Given the description of an element on the screen output the (x, y) to click on. 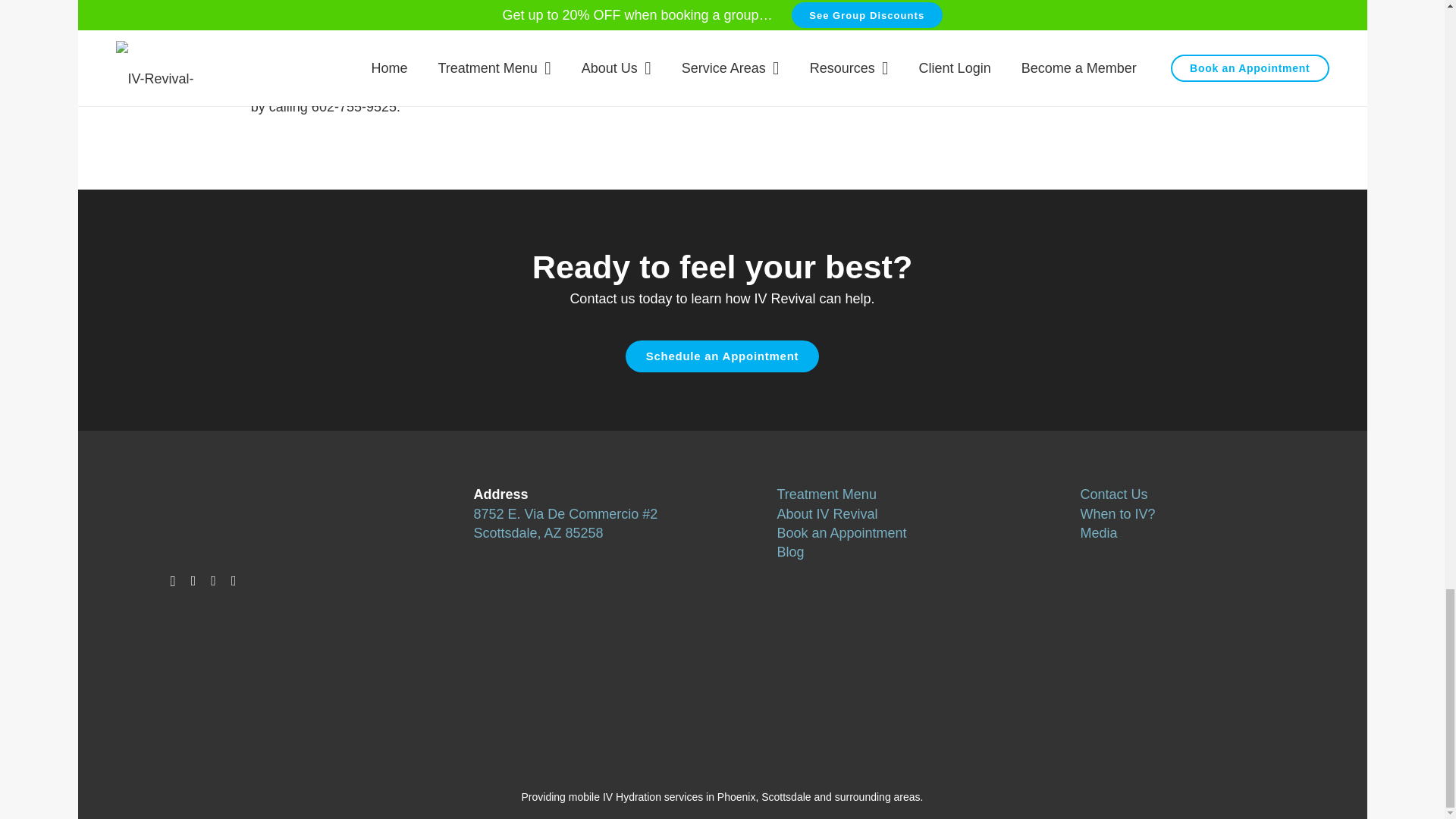
Book an Appointment (722, 356)
weddingwire.com (758, 765)
